Given the description of an element on the screen output the (x, y) to click on. 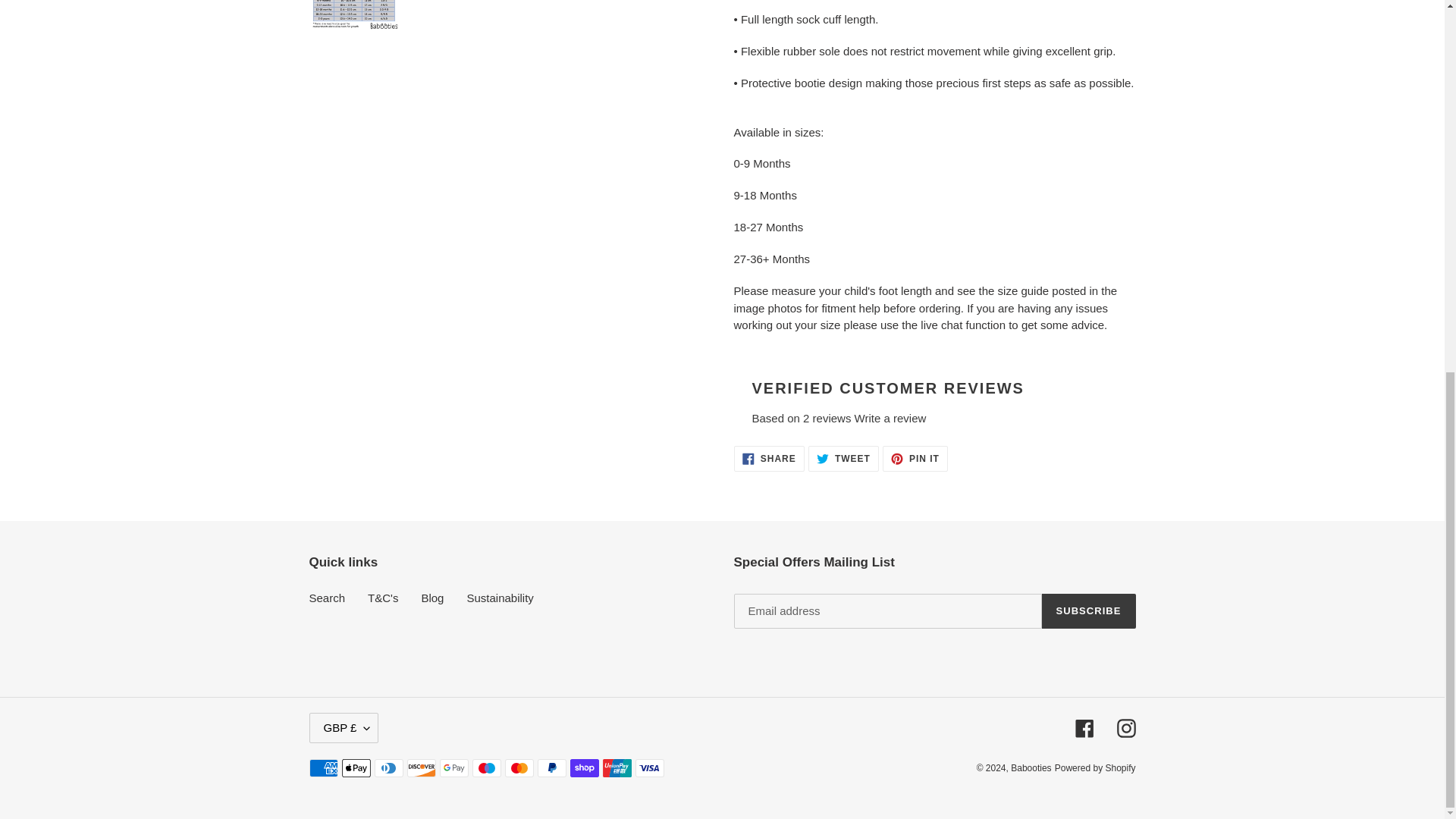
Sustainability (498, 597)
Write a review (890, 418)
SUBSCRIBE (1088, 610)
Blog (432, 597)
Search (843, 458)
